Given the description of an element on the screen output the (x, y) to click on. 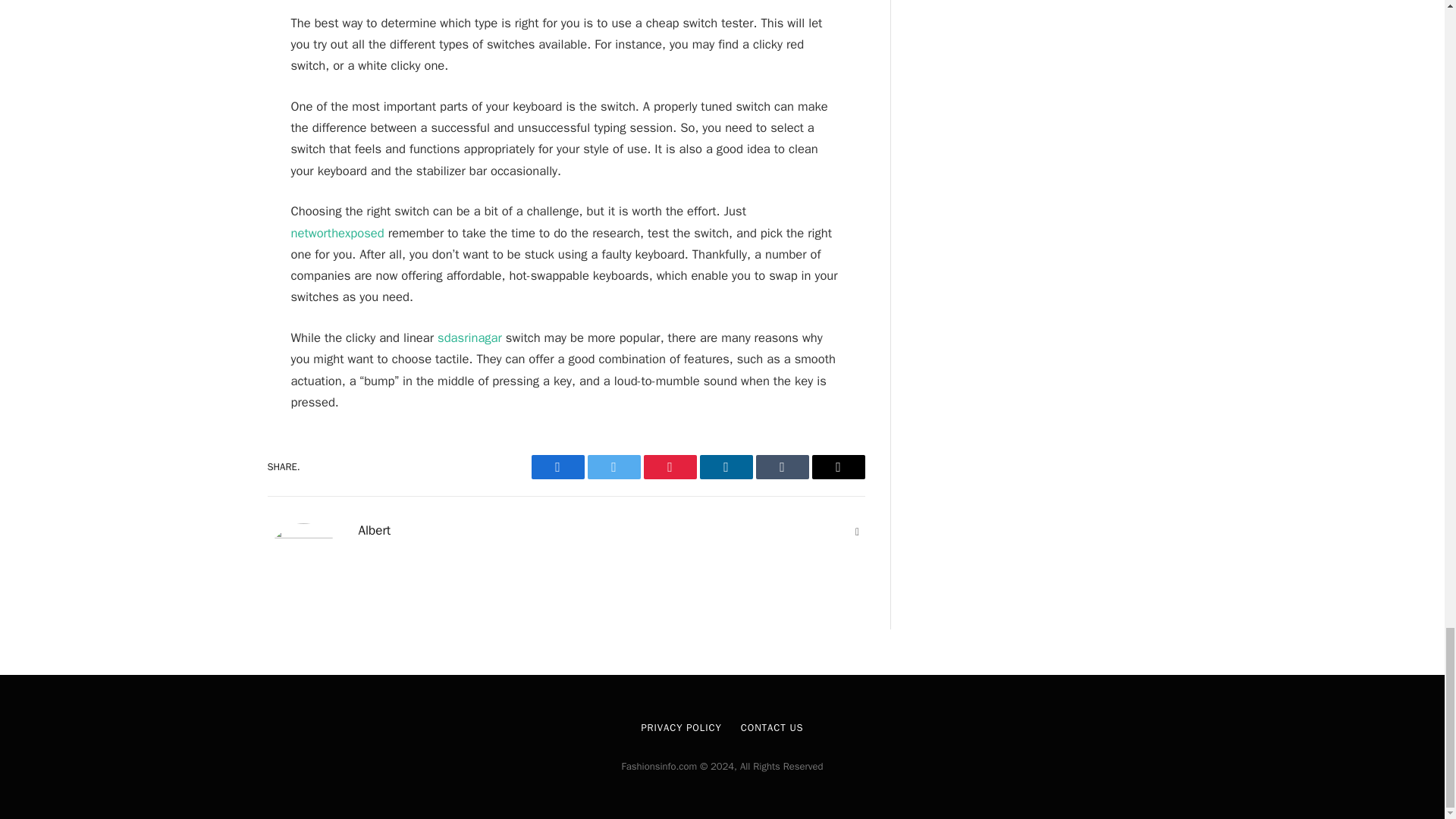
Albert (374, 530)
Pinterest (669, 467)
Email (837, 467)
Tumblr (781, 467)
Twitter (613, 467)
Website (856, 531)
networthexposed (337, 232)
LinkedIn (725, 467)
Facebook (557, 467)
sdasrinagar (470, 337)
